Given the description of an element on the screen output the (x, y) to click on. 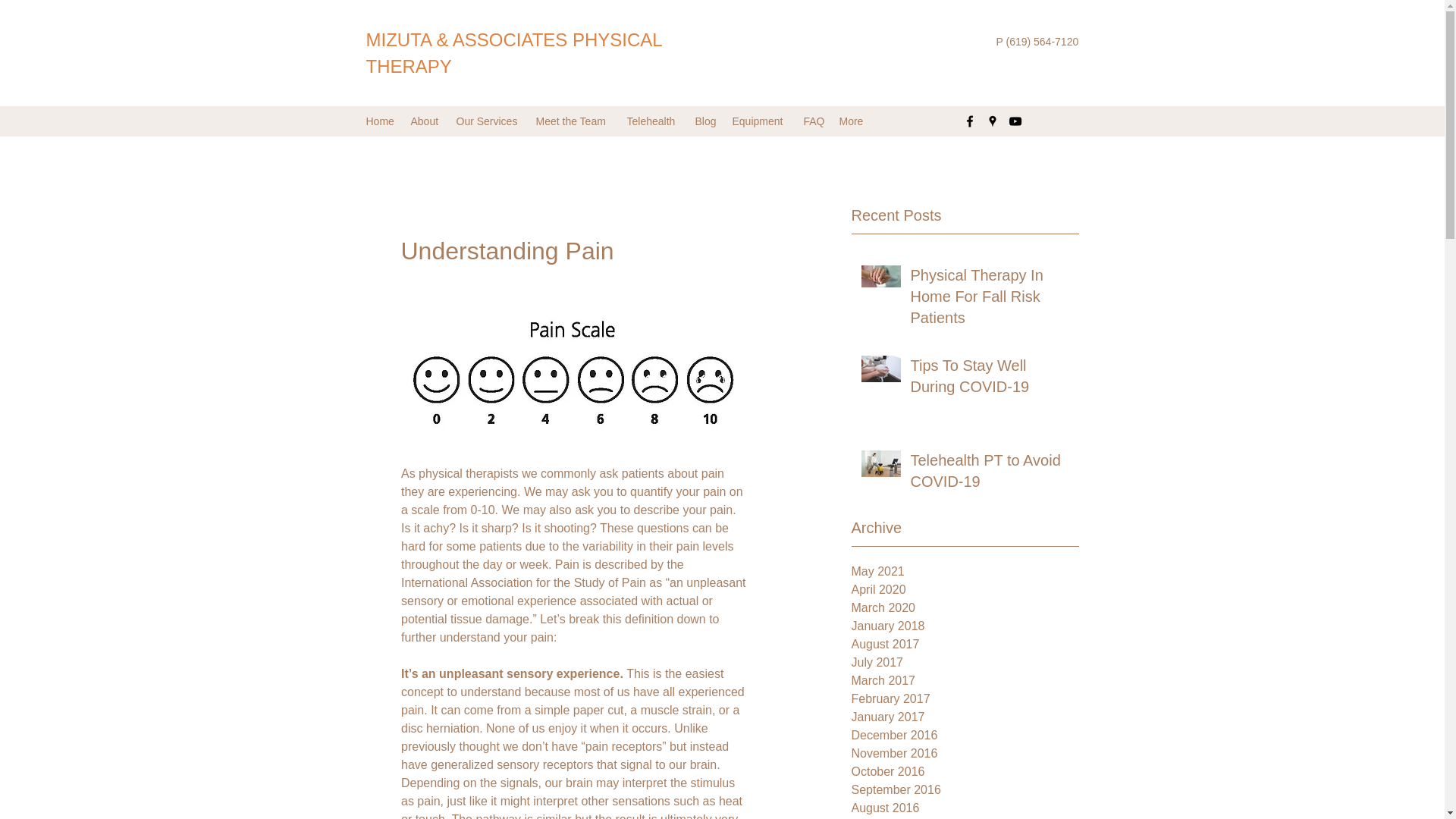
January 2018 (964, 626)
Meet the Team (572, 120)
Blog (705, 120)
About (425, 120)
January 2017 (964, 717)
March 2017 (964, 680)
April 2020 (964, 589)
Tips To Stay Well During COVID-19 (989, 378)
Equipment (760, 120)
November 2016 (964, 753)
